Given the description of an element on the screen output the (x, y) to click on. 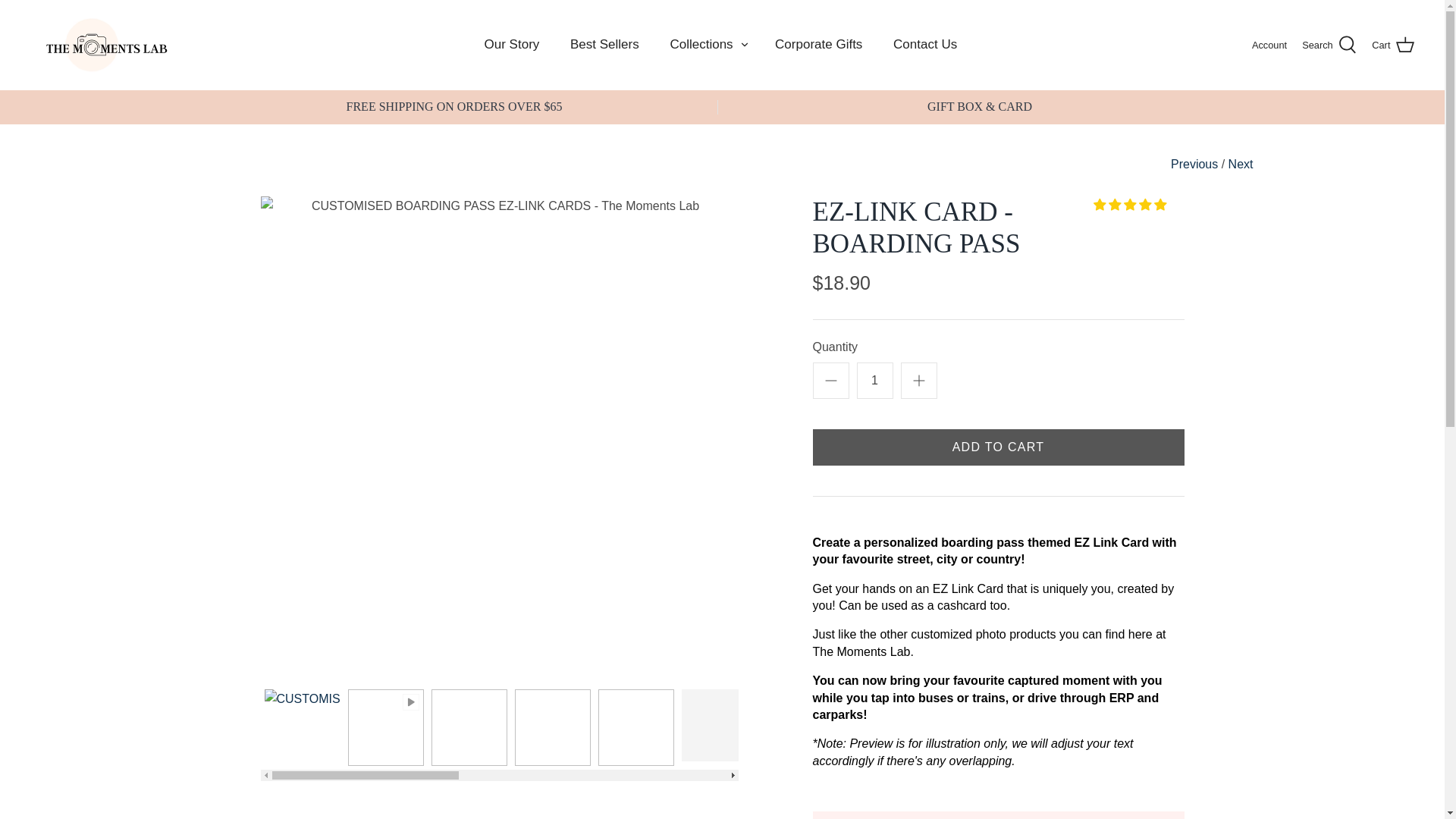
1 (875, 380)
Our Story (511, 44)
Collections (700, 44)
The Moments Lab (106, 44)
Search (1328, 44)
Plus (919, 380)
Corporate Gifts (818, 44)
Add to Cart (998, 447)
Minus (831, 380)
Cart (1392, 44)
